Given the description of an element on the screen output the (x, y) to click on. 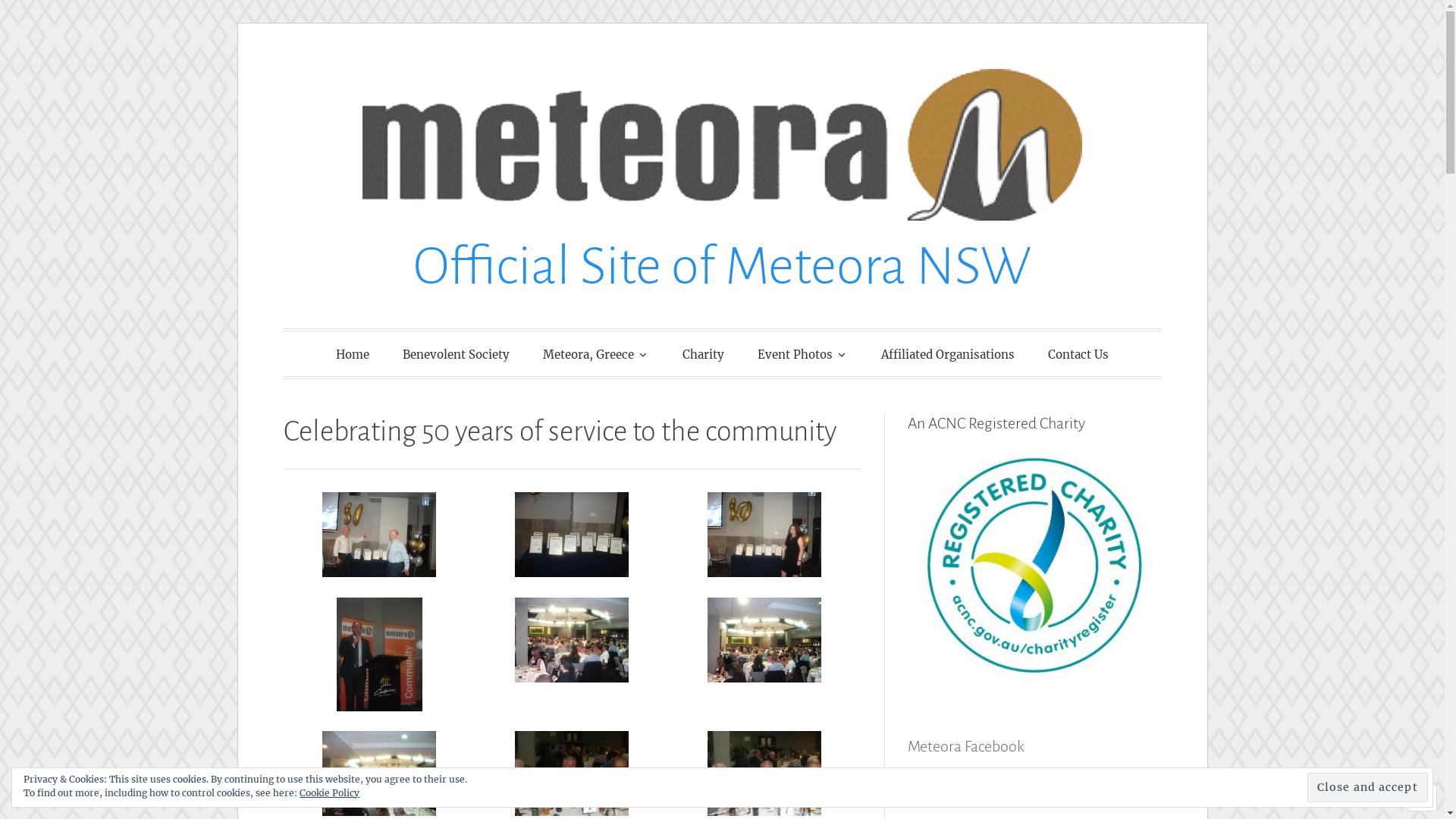
Official Site of Meteora NSW Element type: text (722, 266)
Meteora Facebook Element type: text (965, 745)
Charity Element type: text (703, 354)
Benevolent Society Element type: text (455, 354)
Event Photos Element type: text (802, 353)
Cookie Policy Element type: text (329, 792)
Meteora, Greece Element type: text (595, 353)
Affiliated Organisations Element type: text (947, 354)
Contact Us Element type: text (1077, 354)
Home Element type: text (352, 354)
Meteora Facebook Element type: text (994, 780)
Close and accept Element type: text (1367, 787)
